Given the description of an element on the screen output the (x, y) to click on. 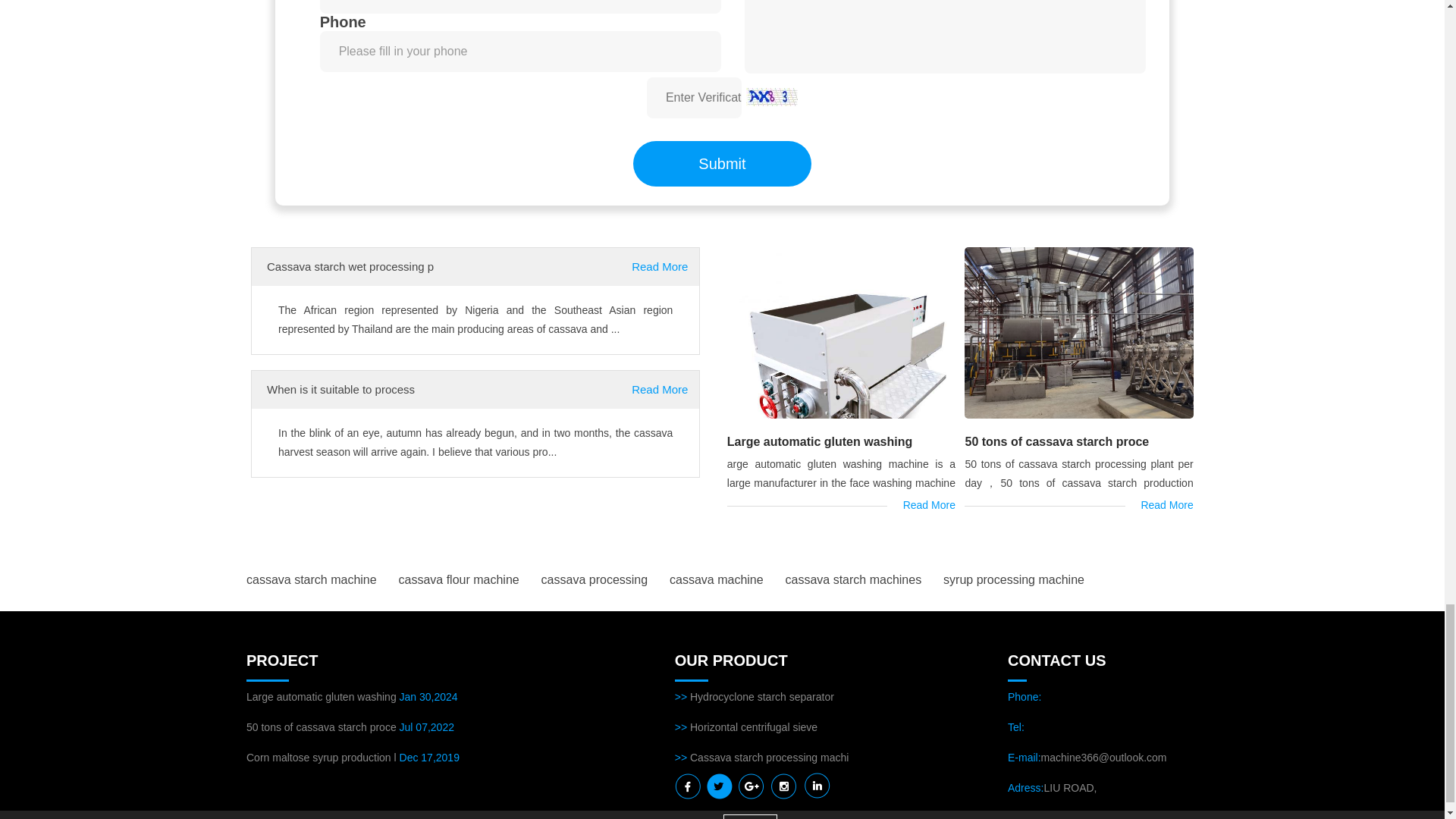
cassava machine (715, 579)
cassava starch machine (311, 579)
50 tons of cassava starch proce (321, 727)
cassava starch machines (853, 579)
Large automatic gluten washing (322, 696)
Read More (659, 266)
Read More (659, 389)
Submit (722, 163)
Cassava starch wet processing p (349, 266)
When is it suitable to process (340, 389)
Horizontal centrifugal sieve (753, 727)
Submit (722, 163)
cassava flour machine (458, 579)
50 tons of cassava starch proce (1055, 440)
Cassava starch processing machi (769, 757)
